Given the description of an element on the screen output the (x, y) to click on. 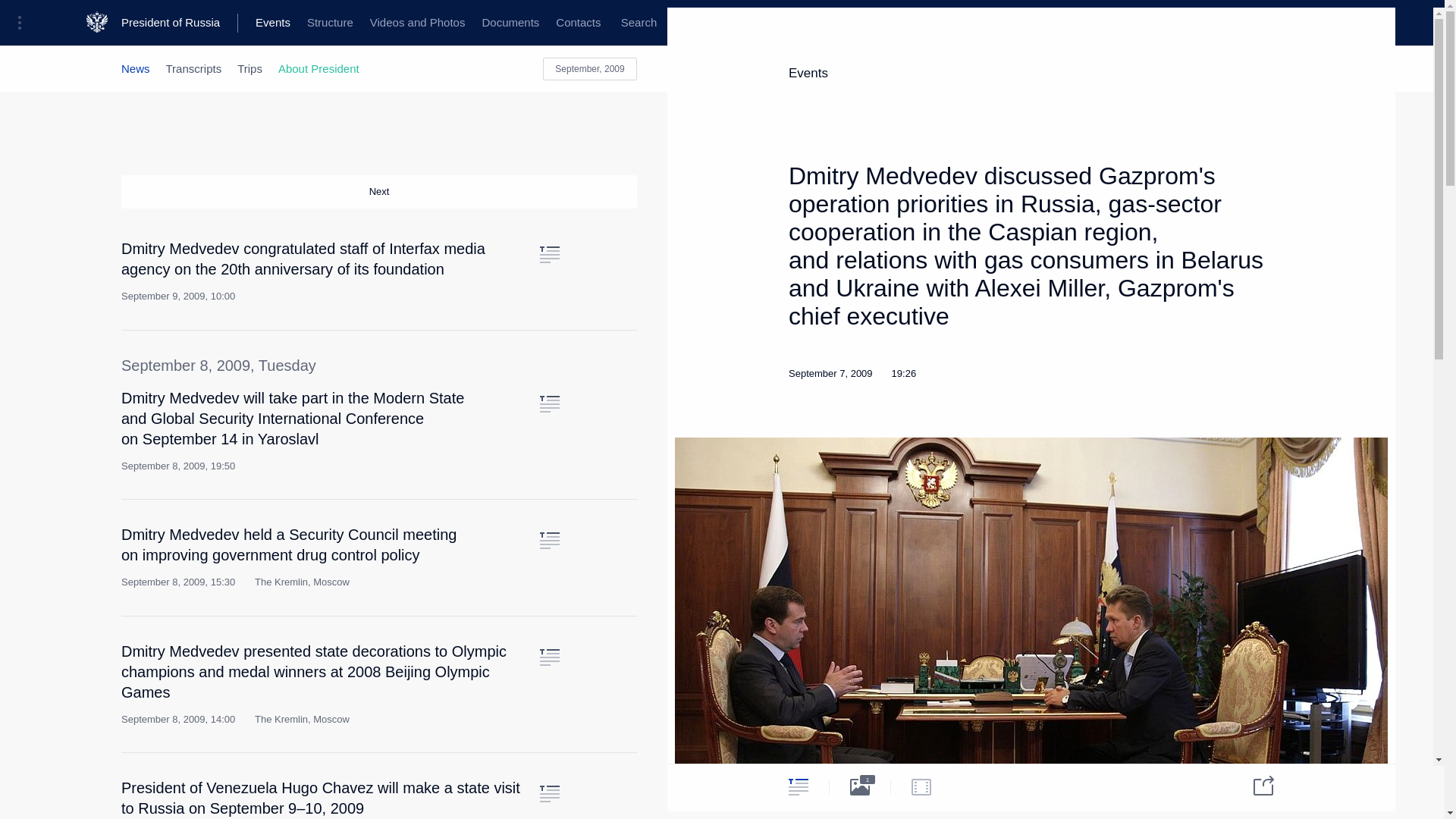
Documents (510, 22)
Global website search (638, 22)
Text of the article (549, 254)
Text of the article (549, 657)
Structure (329, 22)
Events (272, 22)
September, 2009 (590, 68)
About President (318, 68)
Presidential Executive Office (257, 22)
Next (378, 191)
State Council (378, 22)
Text of the article (549, 793)
